Given the description of an element on the screen output the (x, y) to click on. 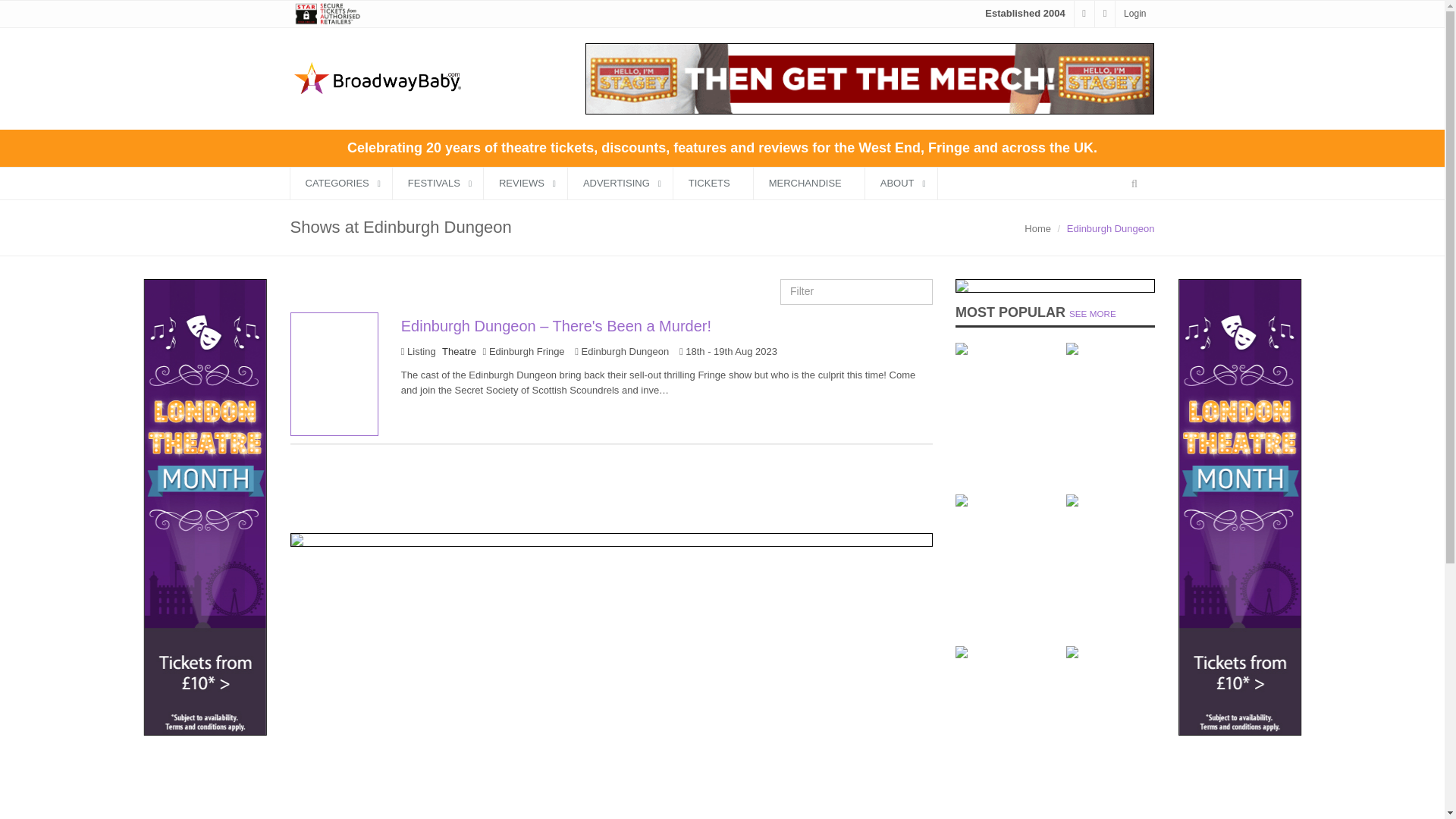
Login (1134, 13)
CATEGORIES (340, 183)
FESTIVALS (438, 183)
